Given the description of an element on the screen output the (x, y) to click on. 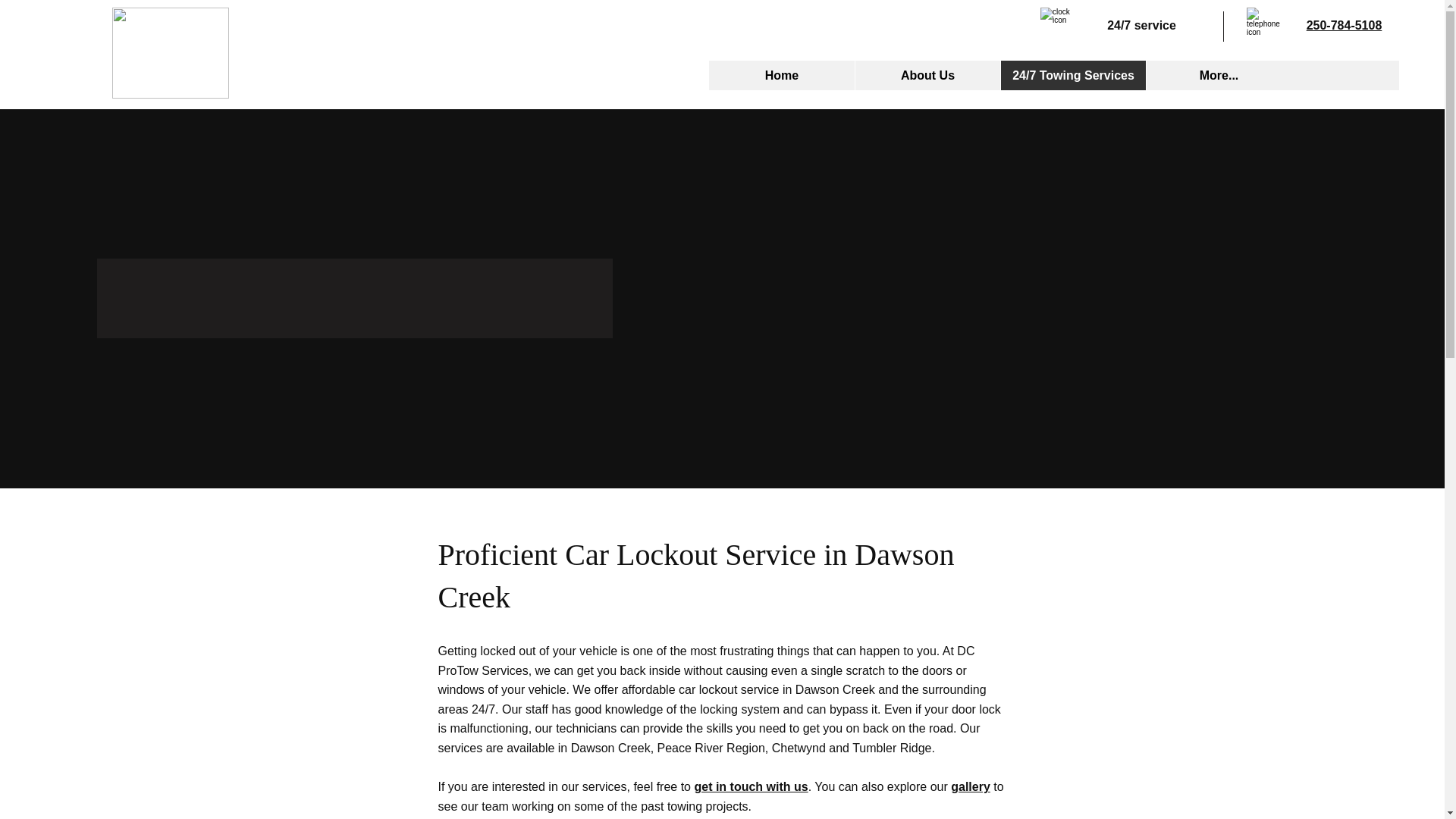
DC ProTow Services logo (170, 52)
Home (781, 75)
About Us (927, 75)
250-784-5108 (1343, 24)
get in touch with us (751, 786)
gallery (970, 786)
